Given the description of an element on the screen output the (x, y) to click on. 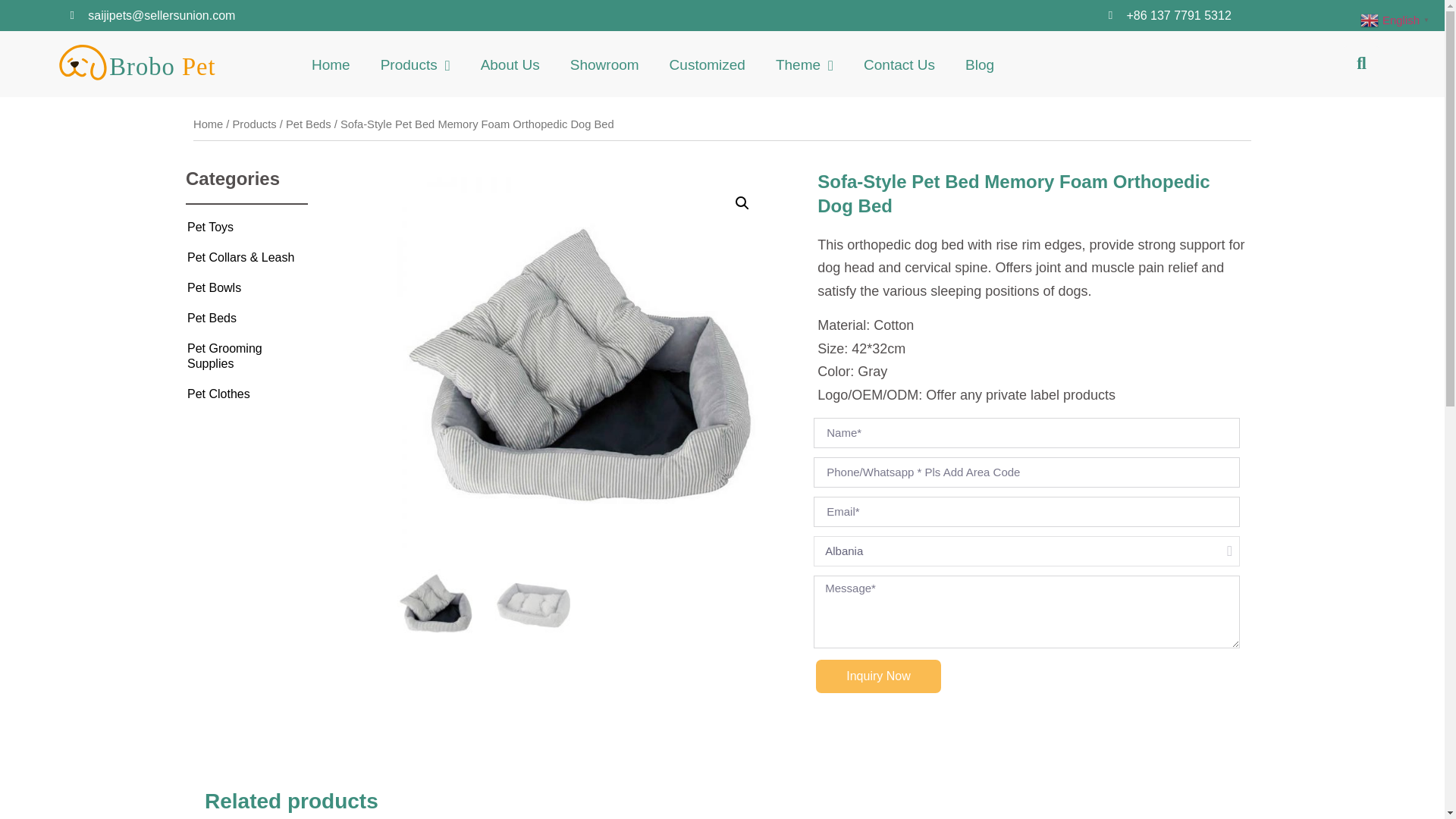
Home (331, 65)
Customized (706, 65)
Contact Us (899, 65)
Home (207, 123)
About Us (509, 65)
Showroom (603, 65)
Blog (979, 65)
Theme (804, 65)
Products (415, 65)
